Given the description of an element on the screen output the (x, y) to click on. 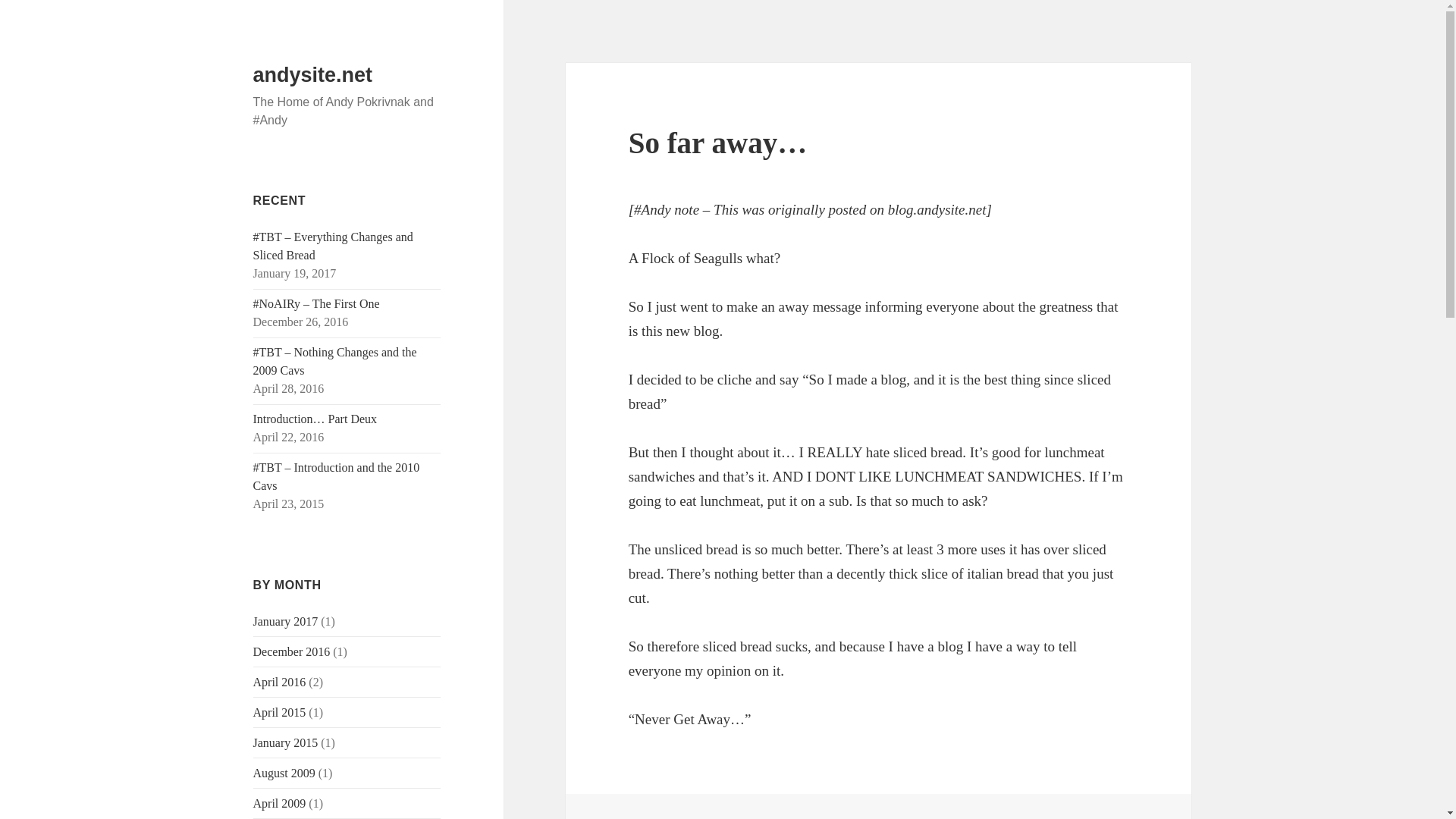
April 2015 (279, 712)
January 2015 (285, 742)
August 2009 (284, 772)
April 2016 (279, 681)
andysite.net (312, 74)
January 2017 (285, 621)
April 2009 (279, 802)
December 2016 (291, 651)
